Given the description of an element on the screen output the (x, y) to click on. 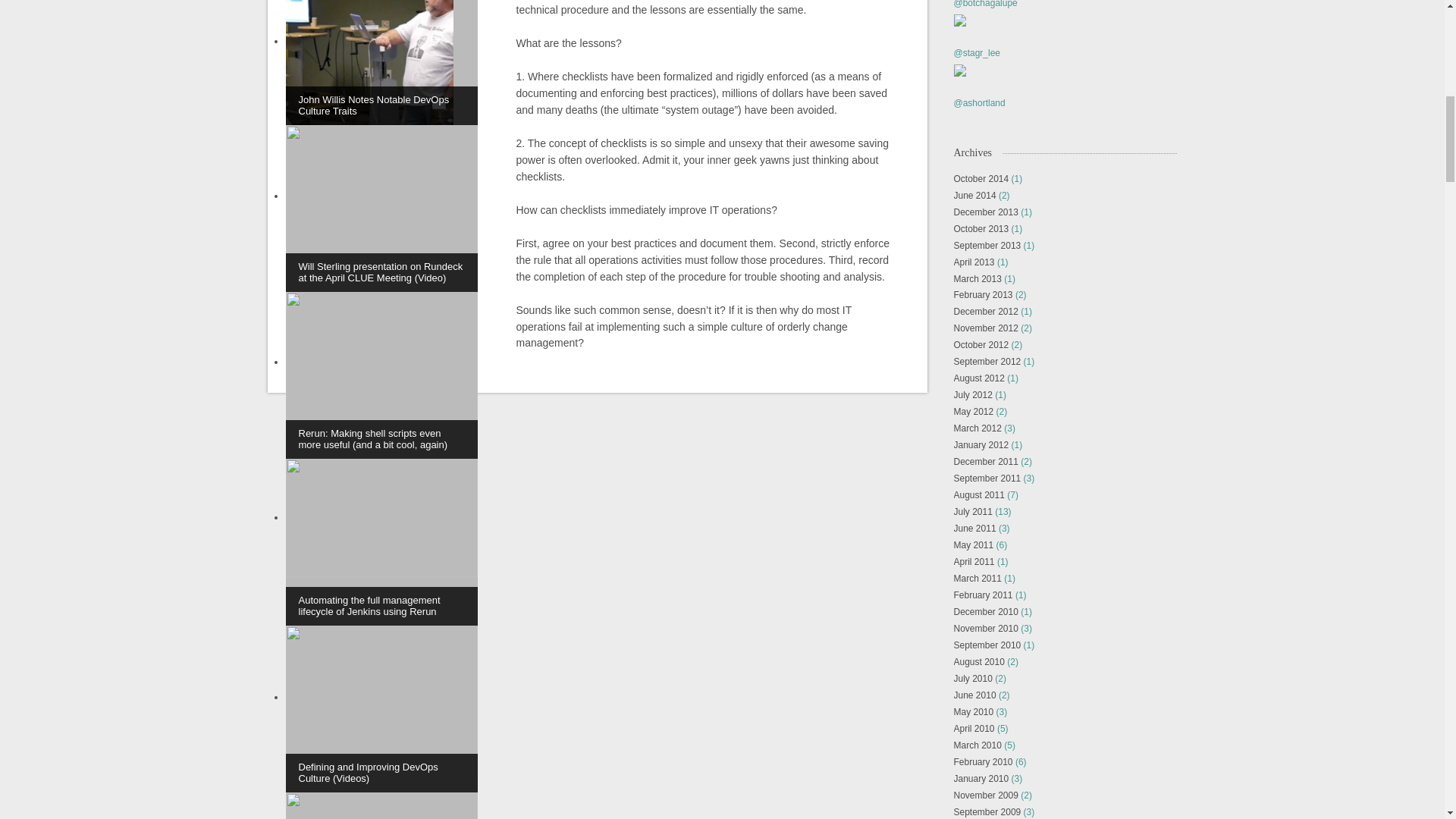
John Willis Notes Notable DevOps Culture Traits (381, 62)
John Willis Notes Notable DevOps Culture Traits (381, 62)
